Given the description of an element on the screen output the (x, y) to click on. 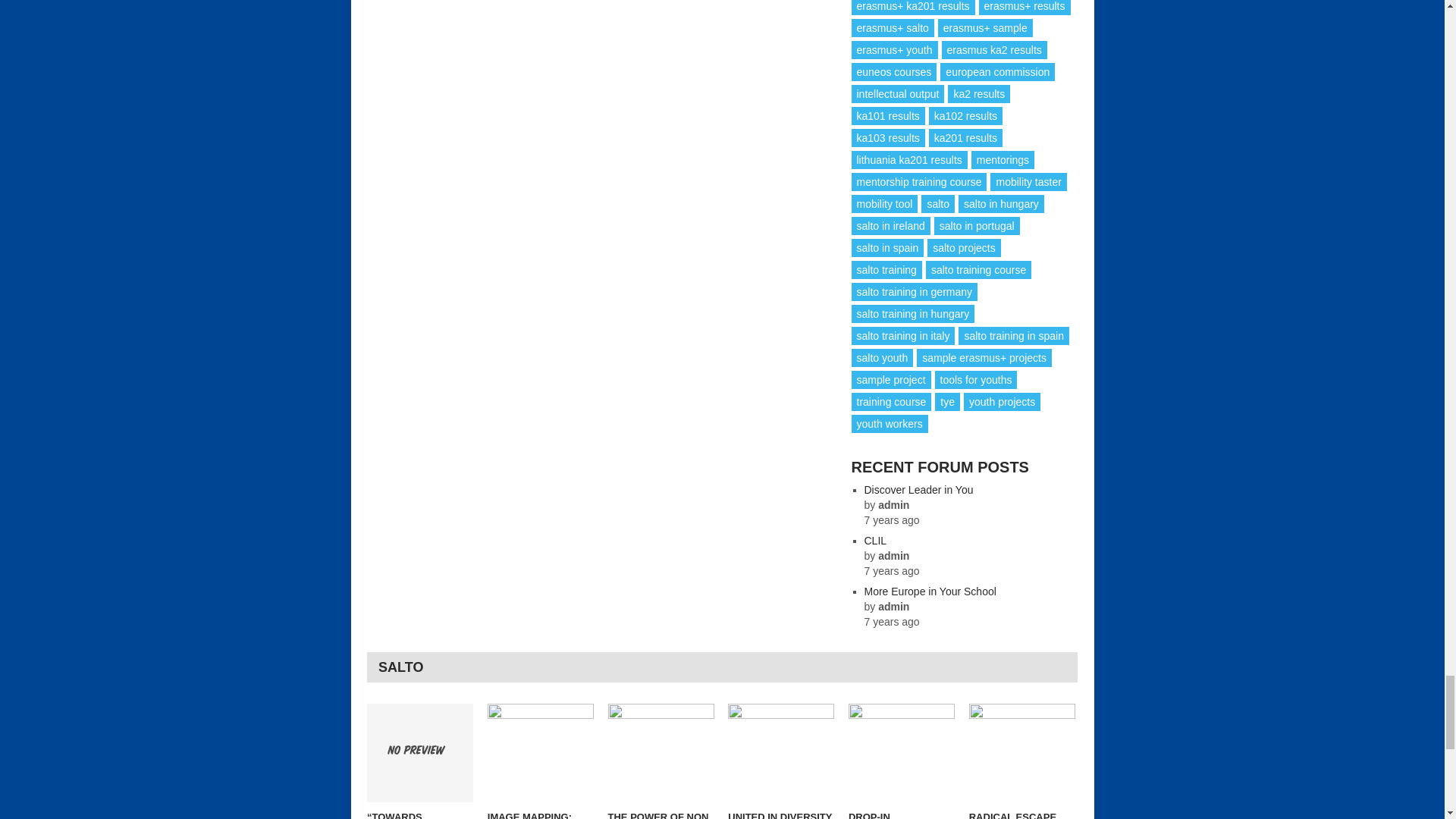
More Europe in Your School (929, 591)
CLIL (875, 540)
Discover Leader in You (919, 490)
